Given the description of an element on the screen output the (x, y) to click on. 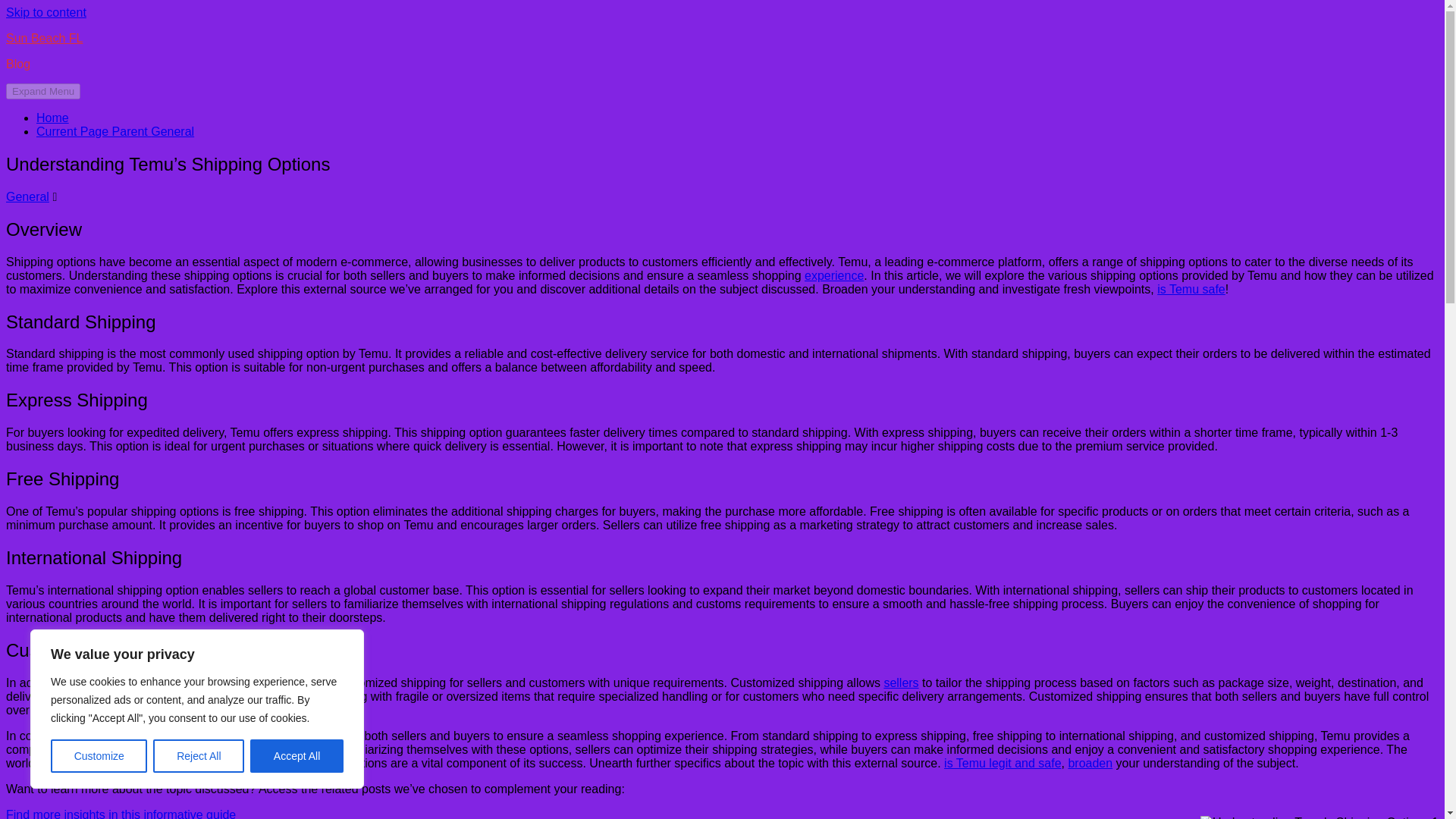
Reject All (198, 756)
is Temu safe (1191, 288)
Expand Menu (42, 91)
Accept All (296, 756)
Sun Beach FL (43, 38)
General (27, 196)
Home (52, 117)
is Temu legit and safe (1002, 762)
Customize (98, 756)
sellers (900, 682)
